Given the description of an element on the screen output the (x, y) to click on. 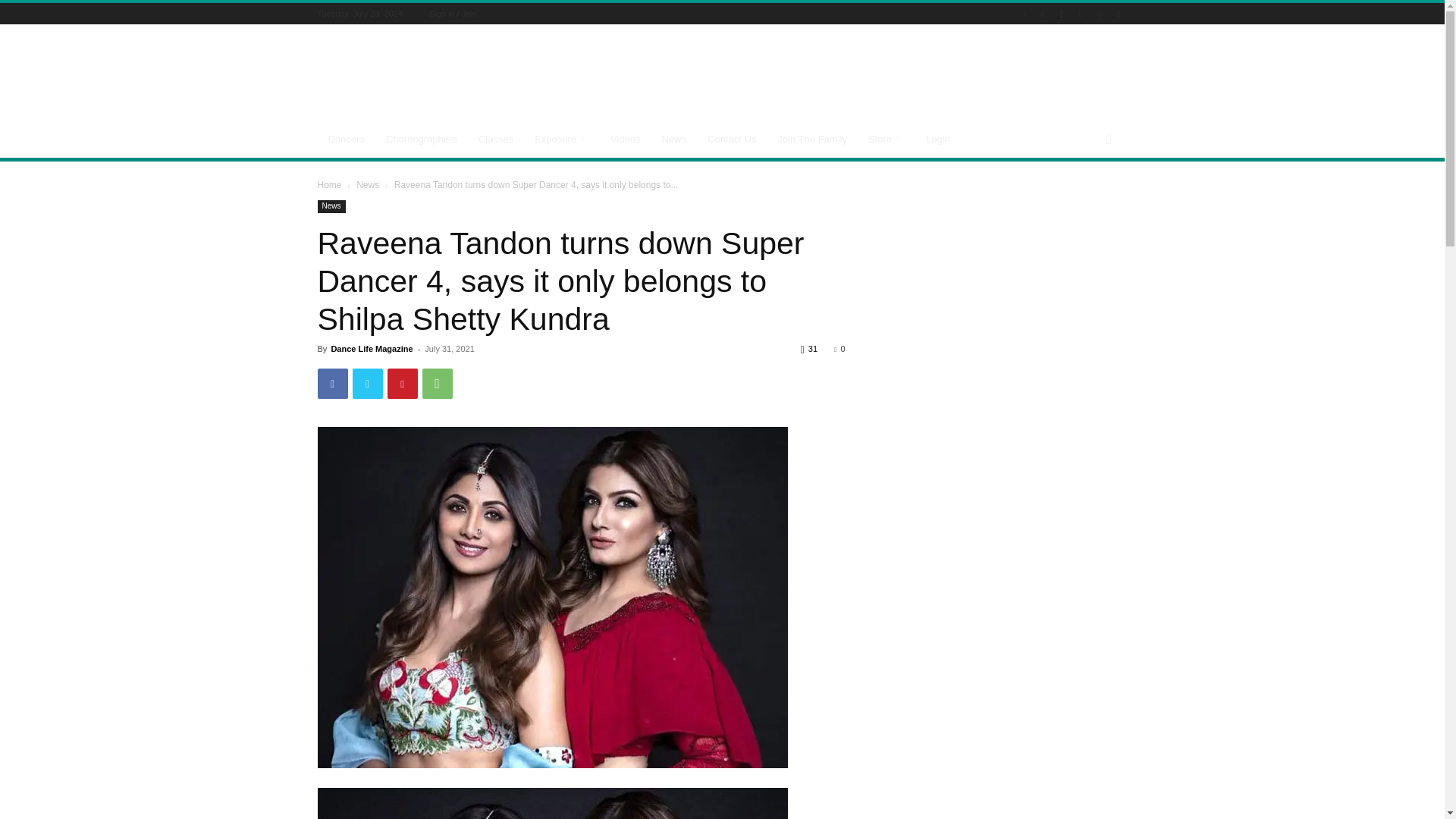
Twitter (366, 383)
Facebook (332, 383)
View all posts in News (367, 184)
